Given the description of an element on the screen output the (x, y) to click on. 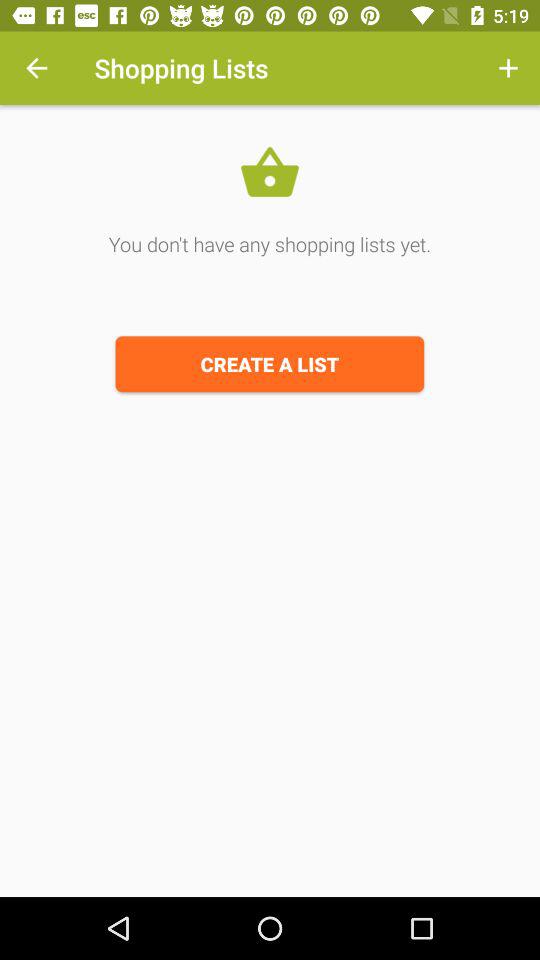
choose icon to the left of the shopping lists icon (36, 68)
